Given the description of an element on the screen output the (x, y) to click on. 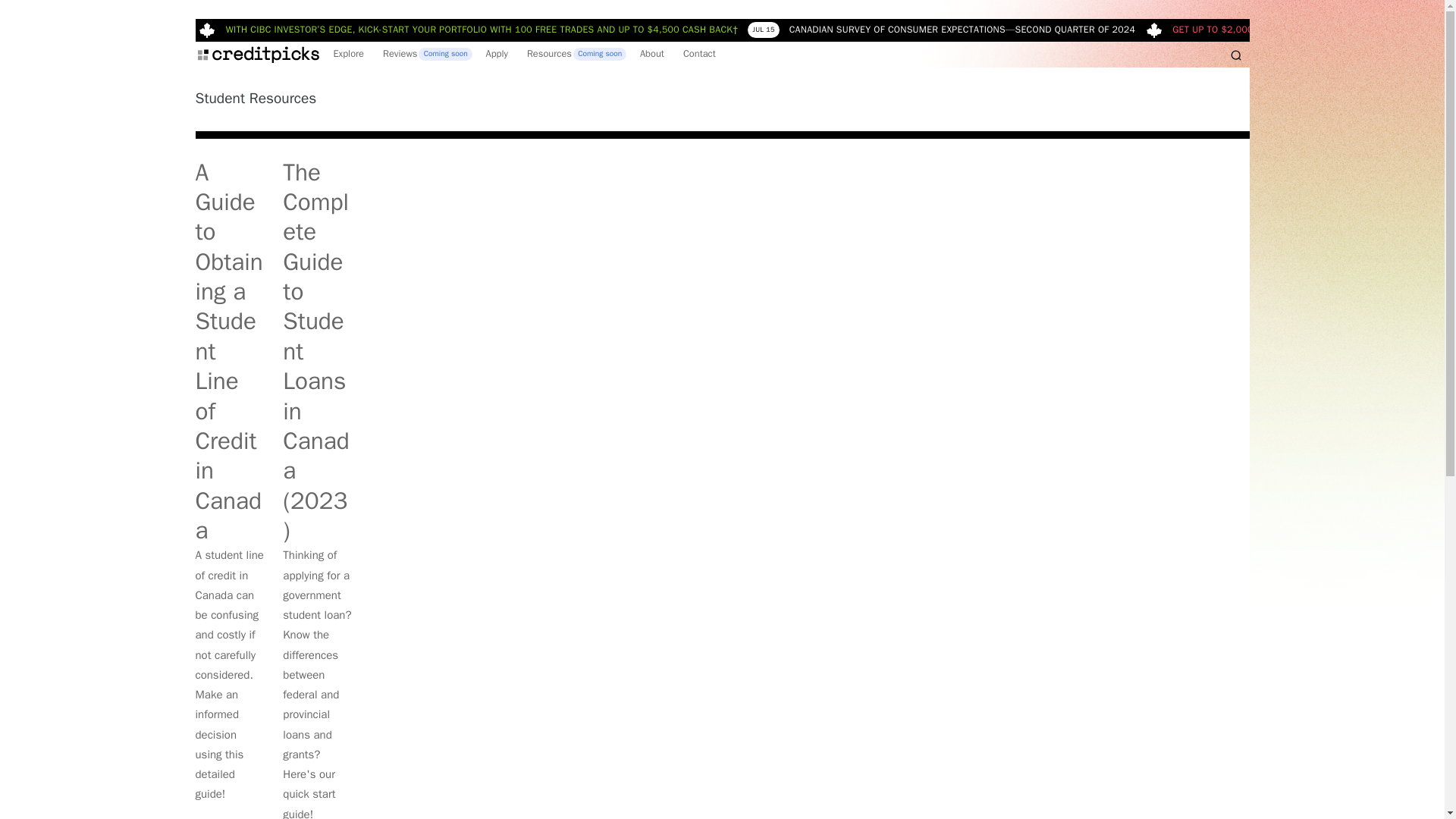
Reviews (423, 53)
Explore (348, 53)
Apply (497, 53)
